Given the description of an element on the screen output the (x, y) to click on. 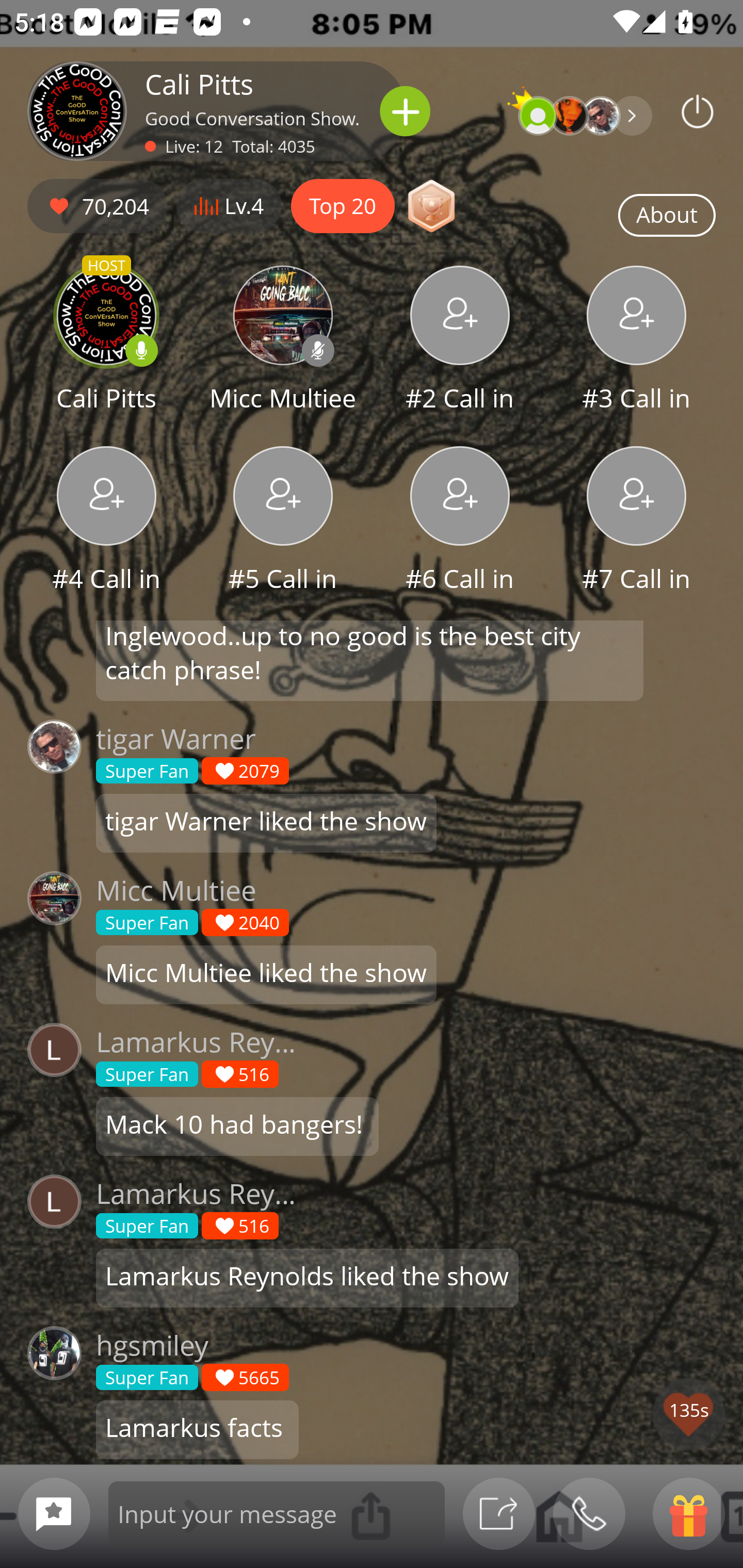
Podbean (697, 111)
About (666, 215)
HOST Cali Pitts (105, 340)
Micc Multiee (282, 340)
#2 Call in (459, 340)
#3 Call in (636, 340)
#4 Call in (105, 521)
#5 Call in (282, 521)
#6 Call in (459, 521)
#7 Call in (636, 521)
Input your message (276, 1513)
